Given the description of an element on the screen output the (x, y) to click on. 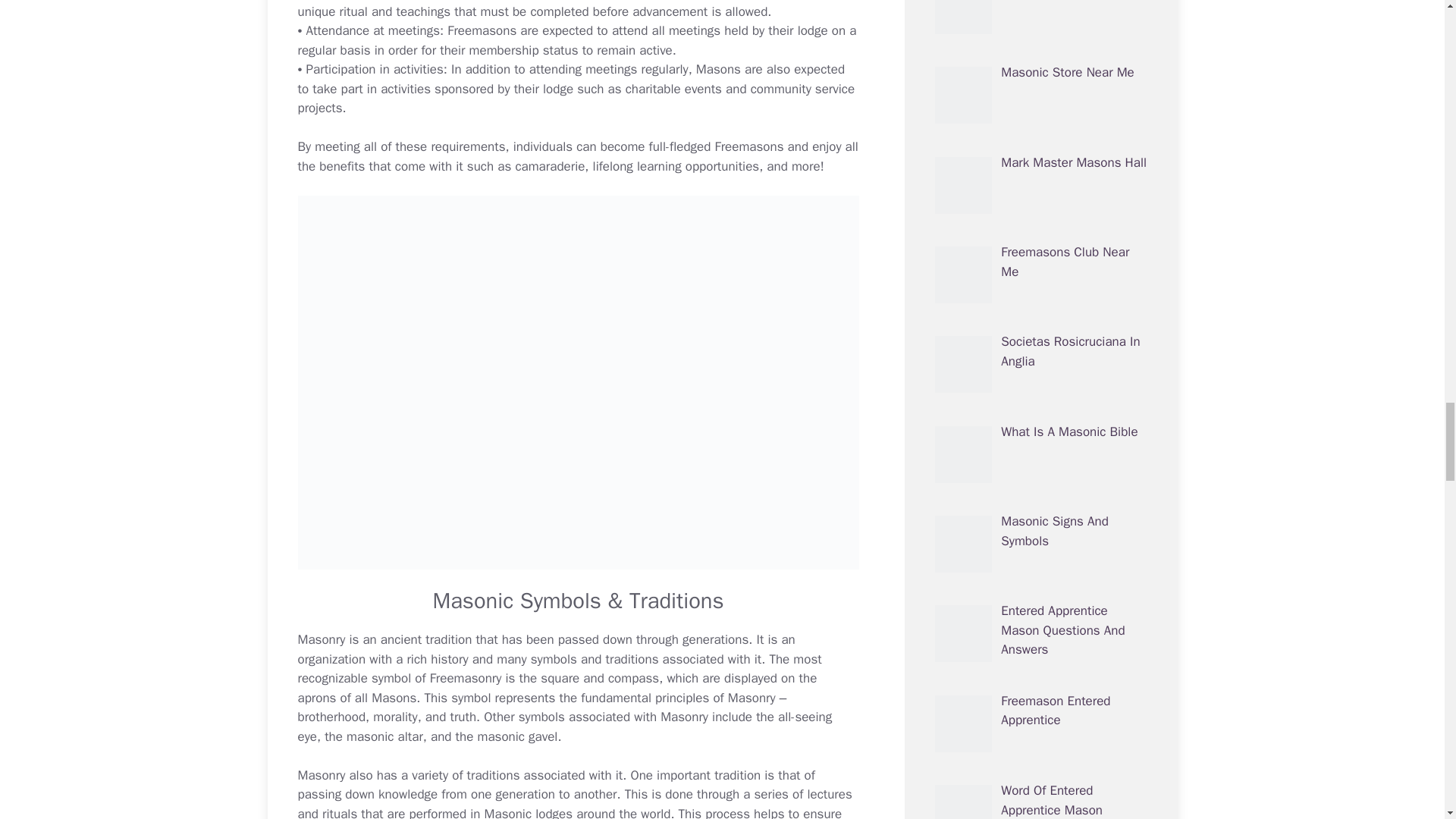
Masonic Gavel (451, 736)
Master Mason Apron Lecture (356, 697)
